Given the description of an element on the screen output the (x, y) to click on. 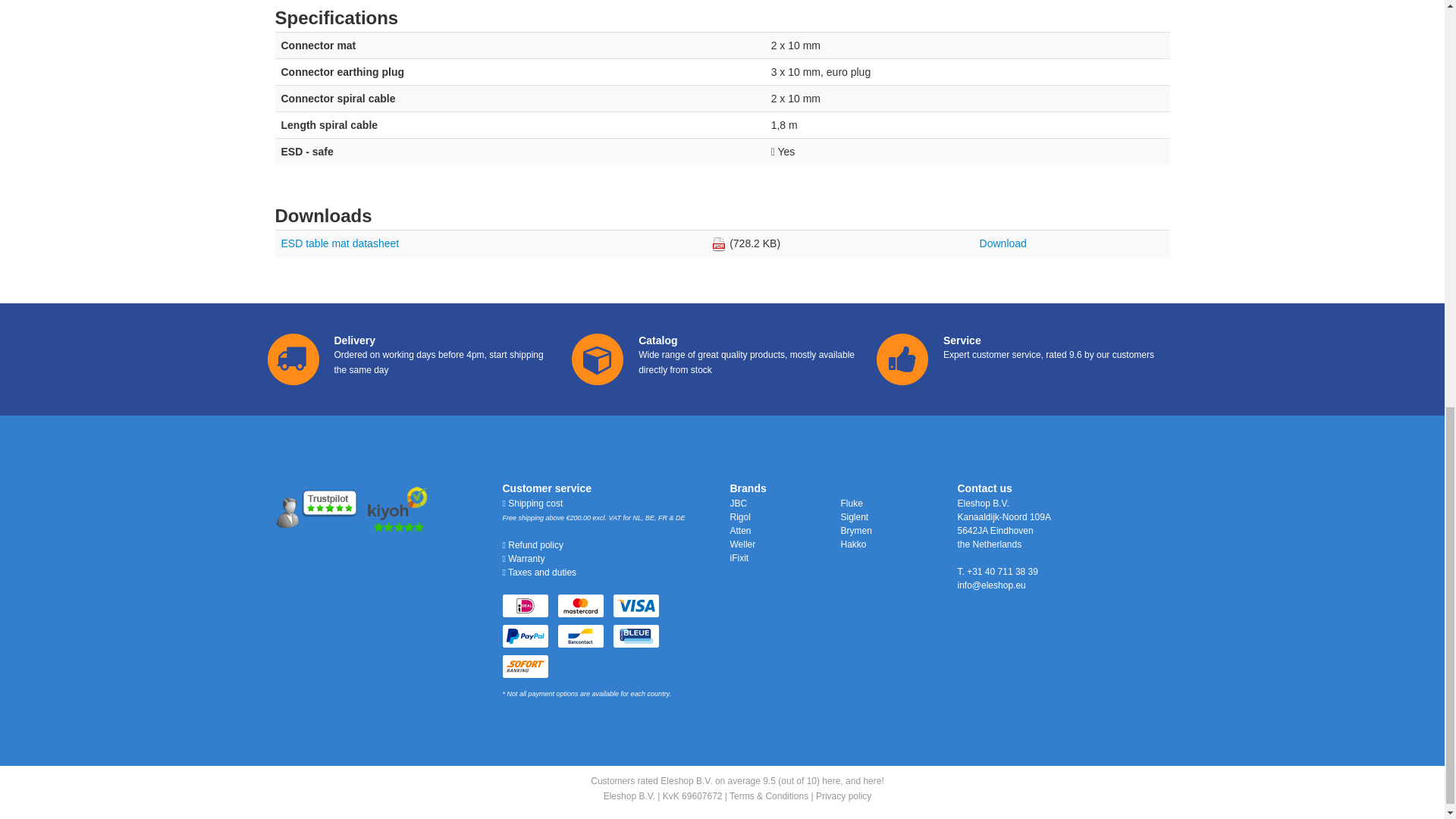
ESD table mat datasheet (1002, 243)
Download (1002, 243)
ESD table mat datasheet (339, 243)
ESD table mat datasheet (339, 243)
pdf (718, 243)
